Given the description of an element on the screen output the (x, y) to click on. 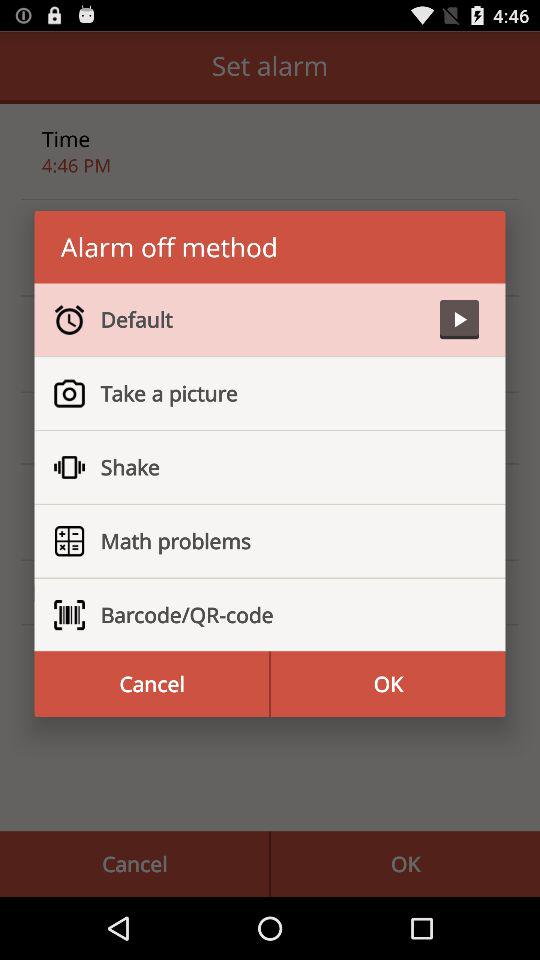
click app next to default icon (459, 319)
